Given the description of an element on the screen output the (x, y) to click on. 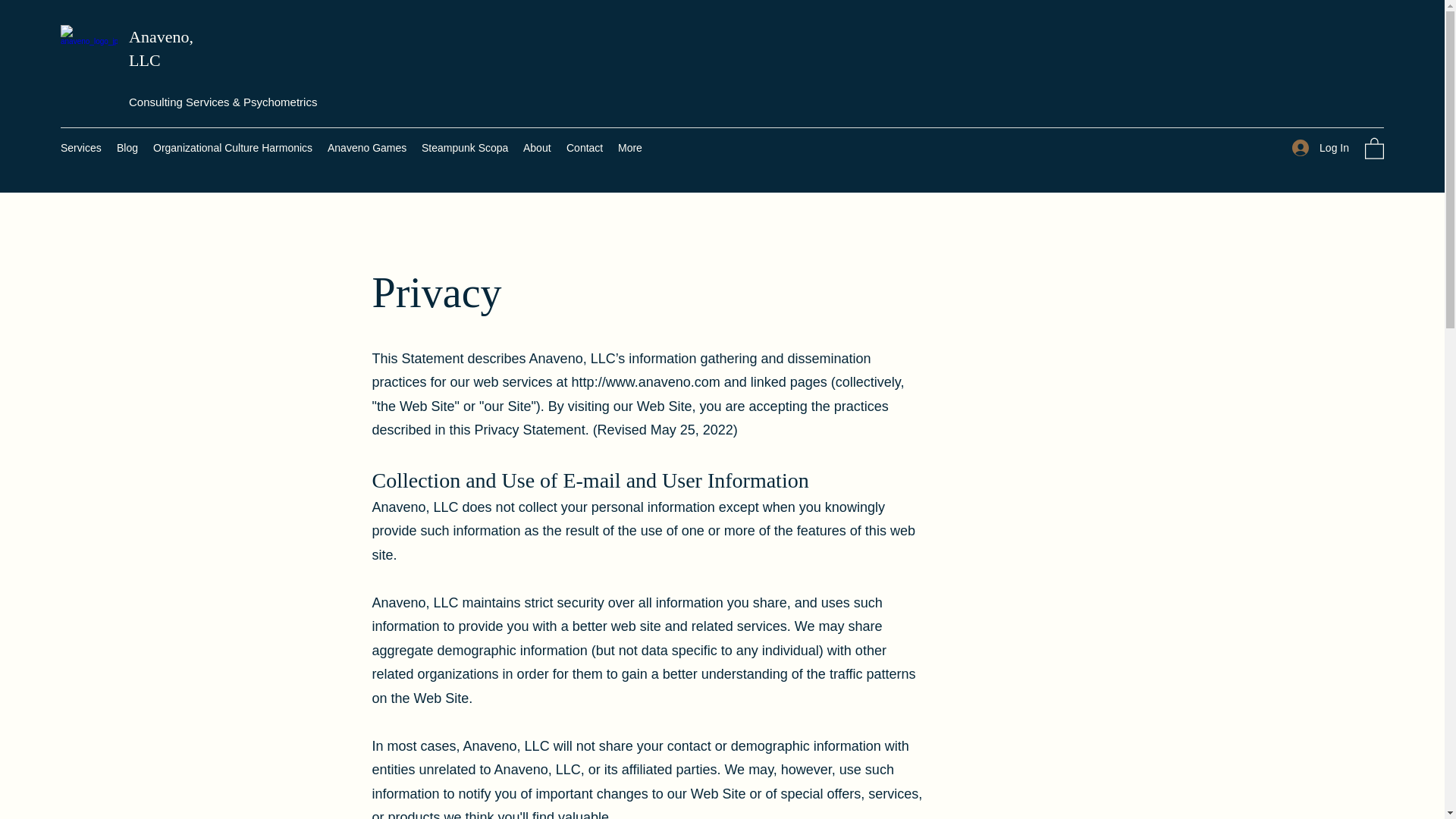
Blog (127, 147)
Anaveno Games (366, 147)
Contact (584, 147)
Steampunk Scopa (464, 147)
Organizational Culture Harmonics (232, 147)
Log In (1320, 147)
About (537, 147)
Anaveno, LLC  (161, 48)
Services (80, 147)
